Given the description of an element on the screen output the (x, y) to click on. 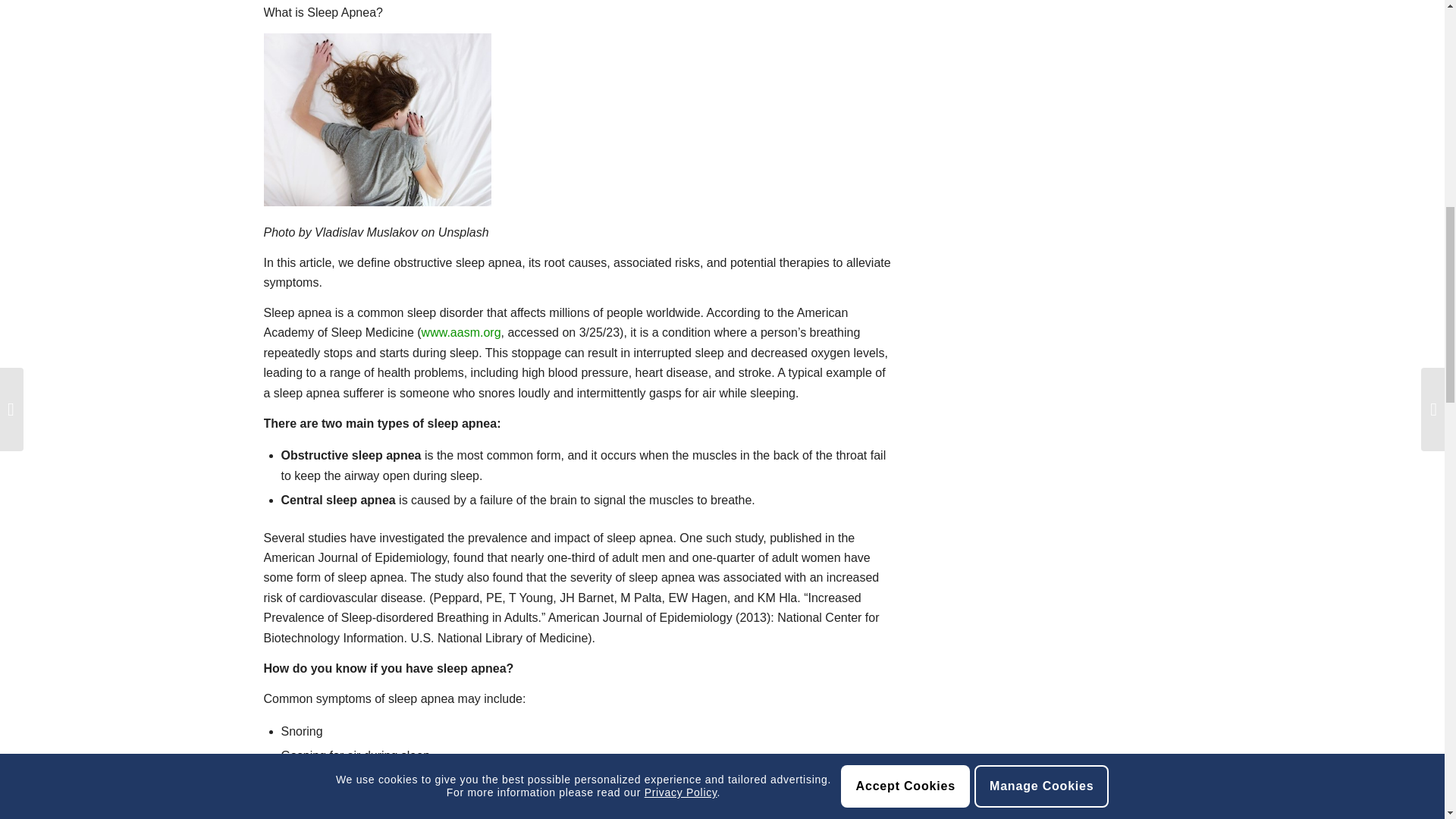
www.aasm.org (461, 332)
